Given the description of an element on the screen output the (x, y) to click on. 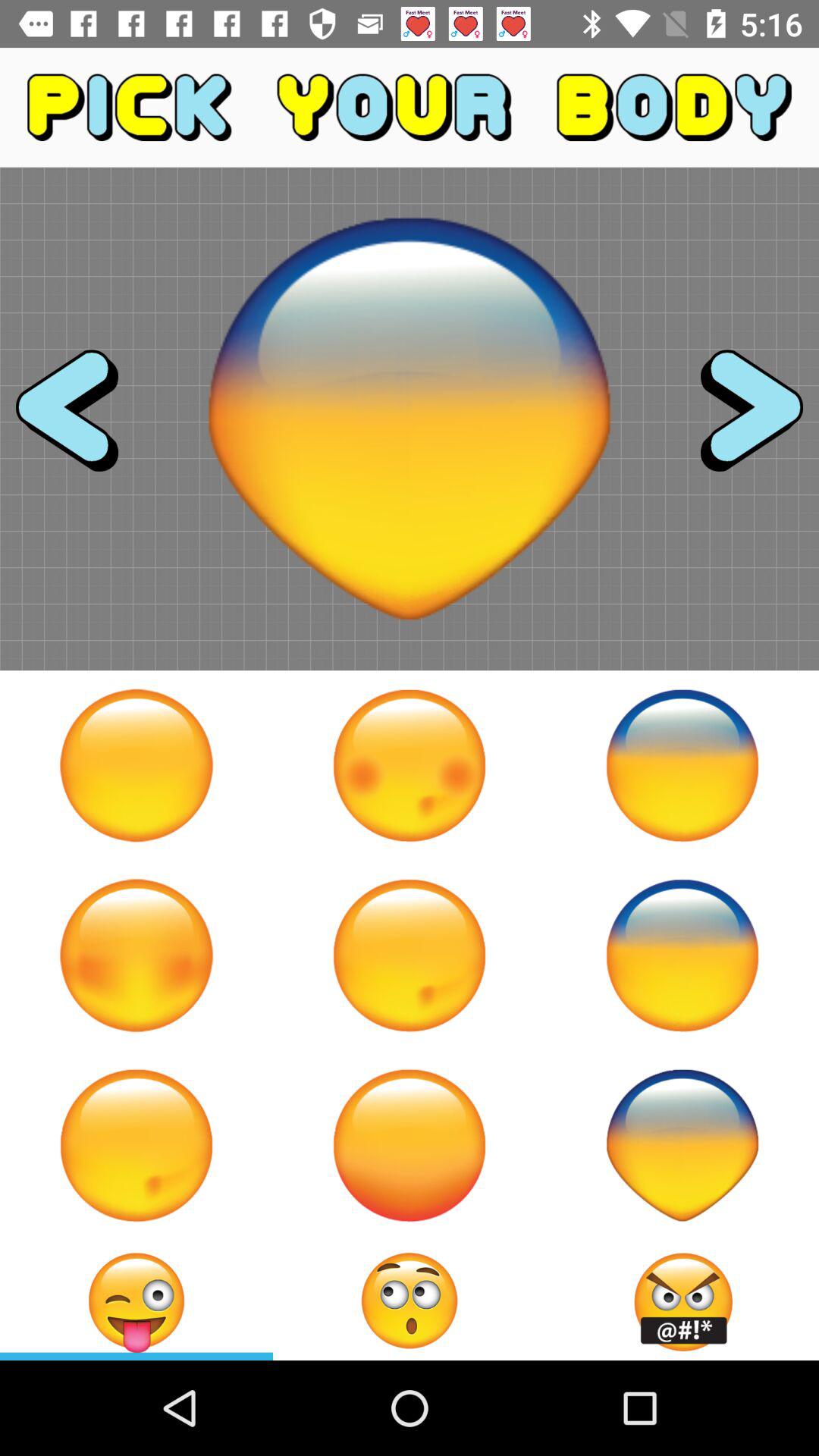
advance to next body part (737, 418)
